Given the description of an element on the screen output the (x, y) to click on. 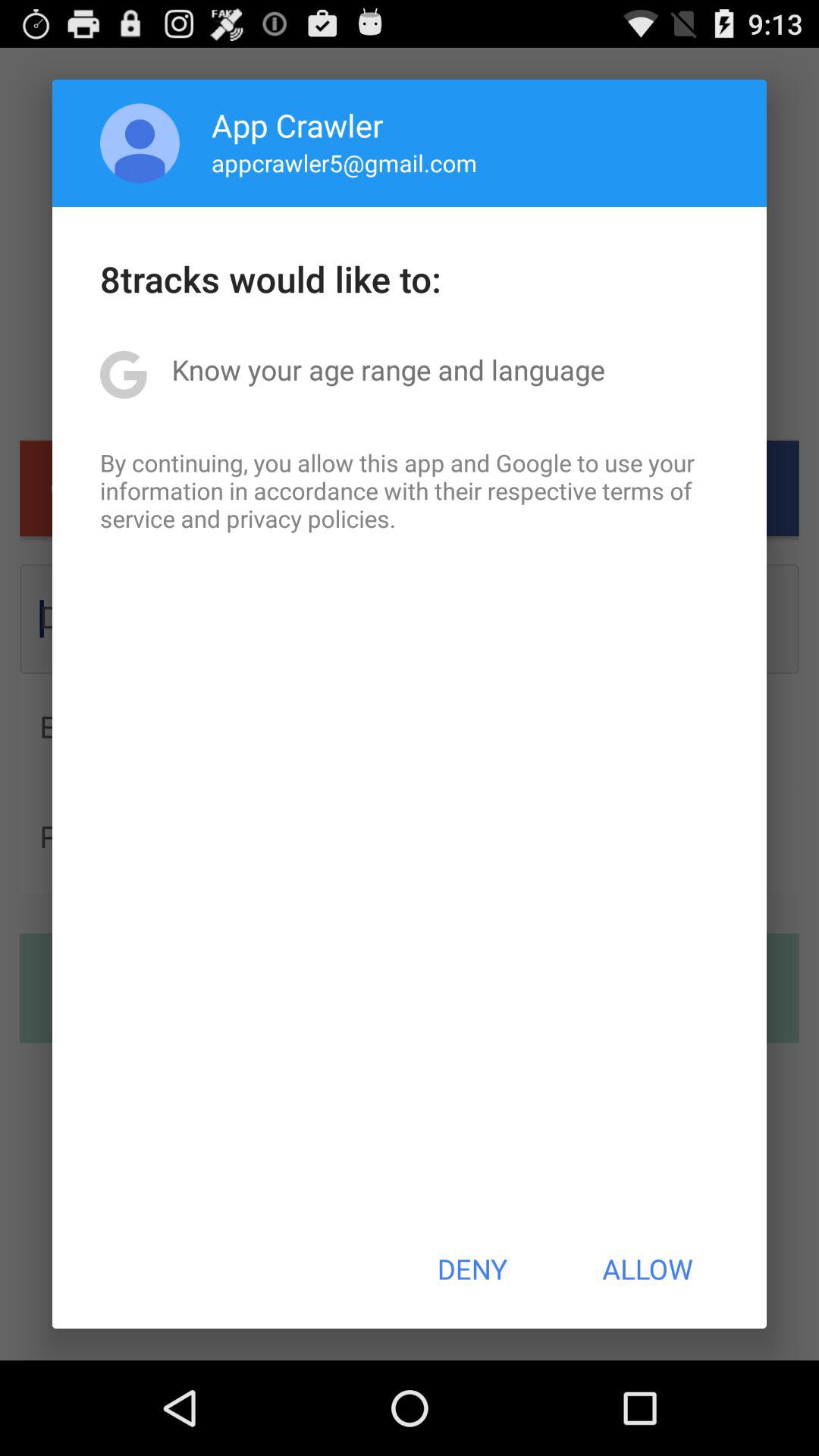
launch item at the bottom (471, 1268)
